Given the description of an element on the screen output the (x, y) to click on. 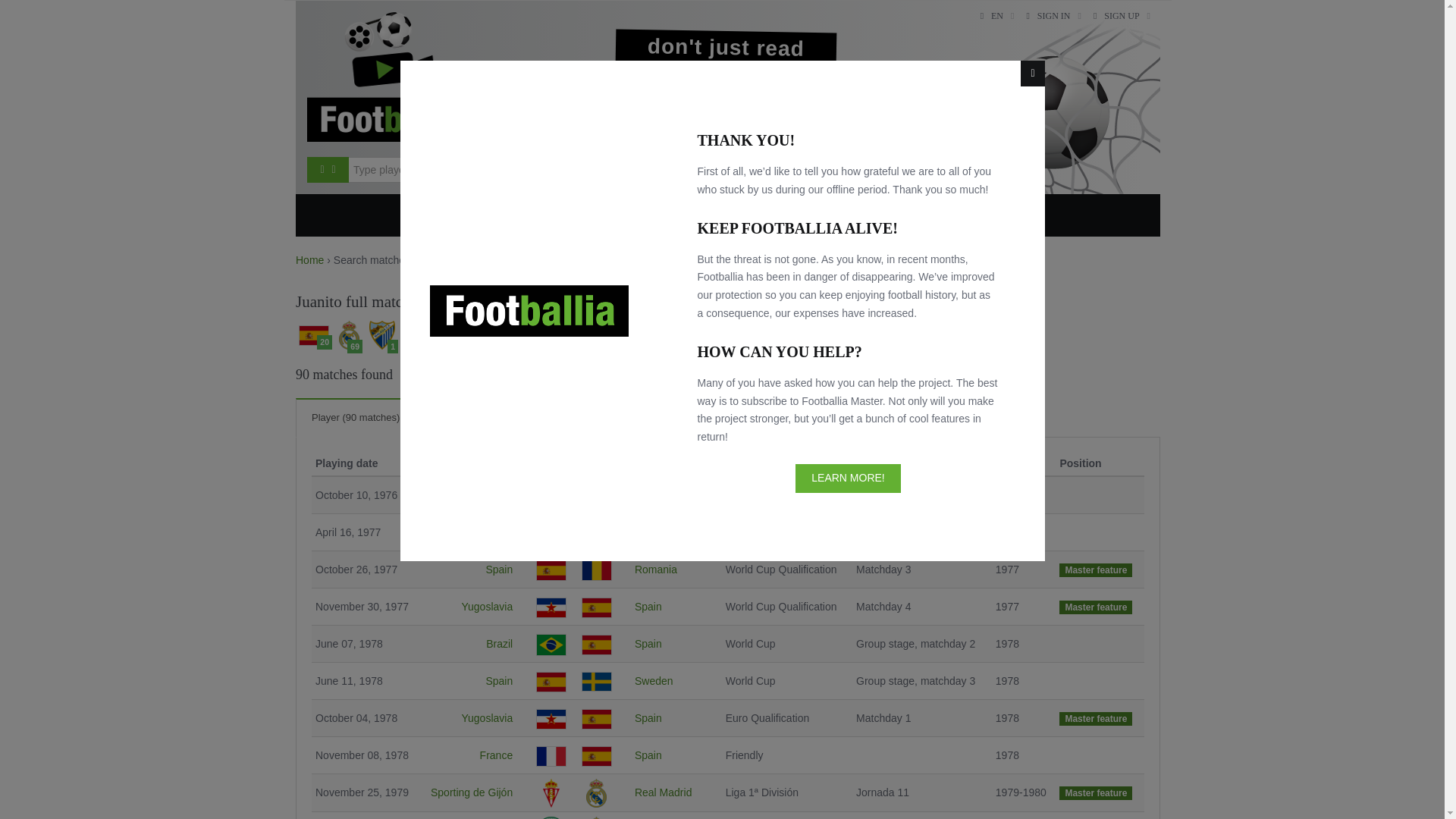
Footballia (392, 76)
COMPETITIONS (531, 215)
HOME (440, 215)
SIGN IN (1053, 15)
EN (997, 15)
SIGN UP (1121, 15)
